Given the description of an element on the screen output the (x, y) to click on. 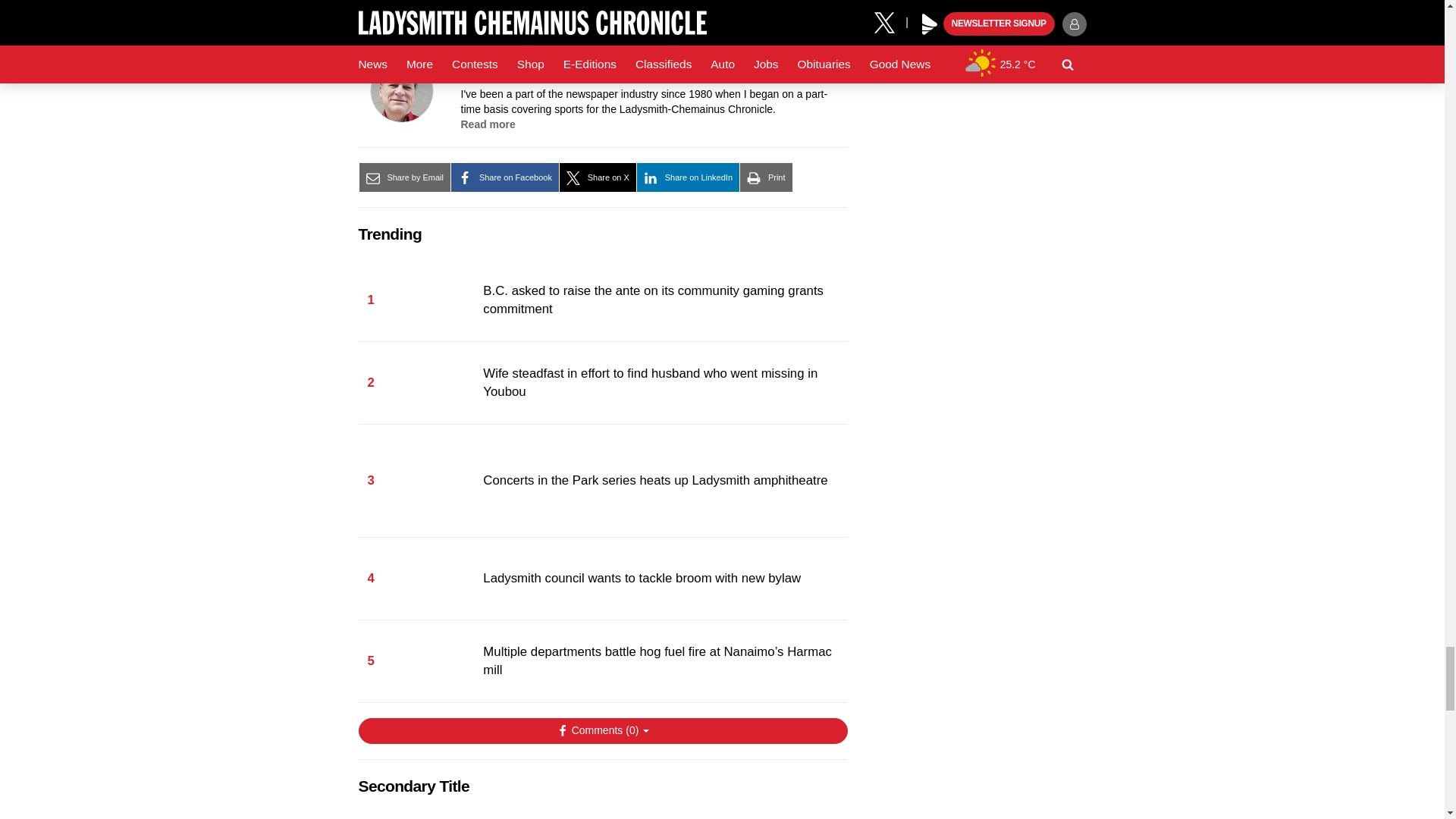
Show Comments (602, 730)
